Given the description of an element on the screen output the (x, y) to click on. 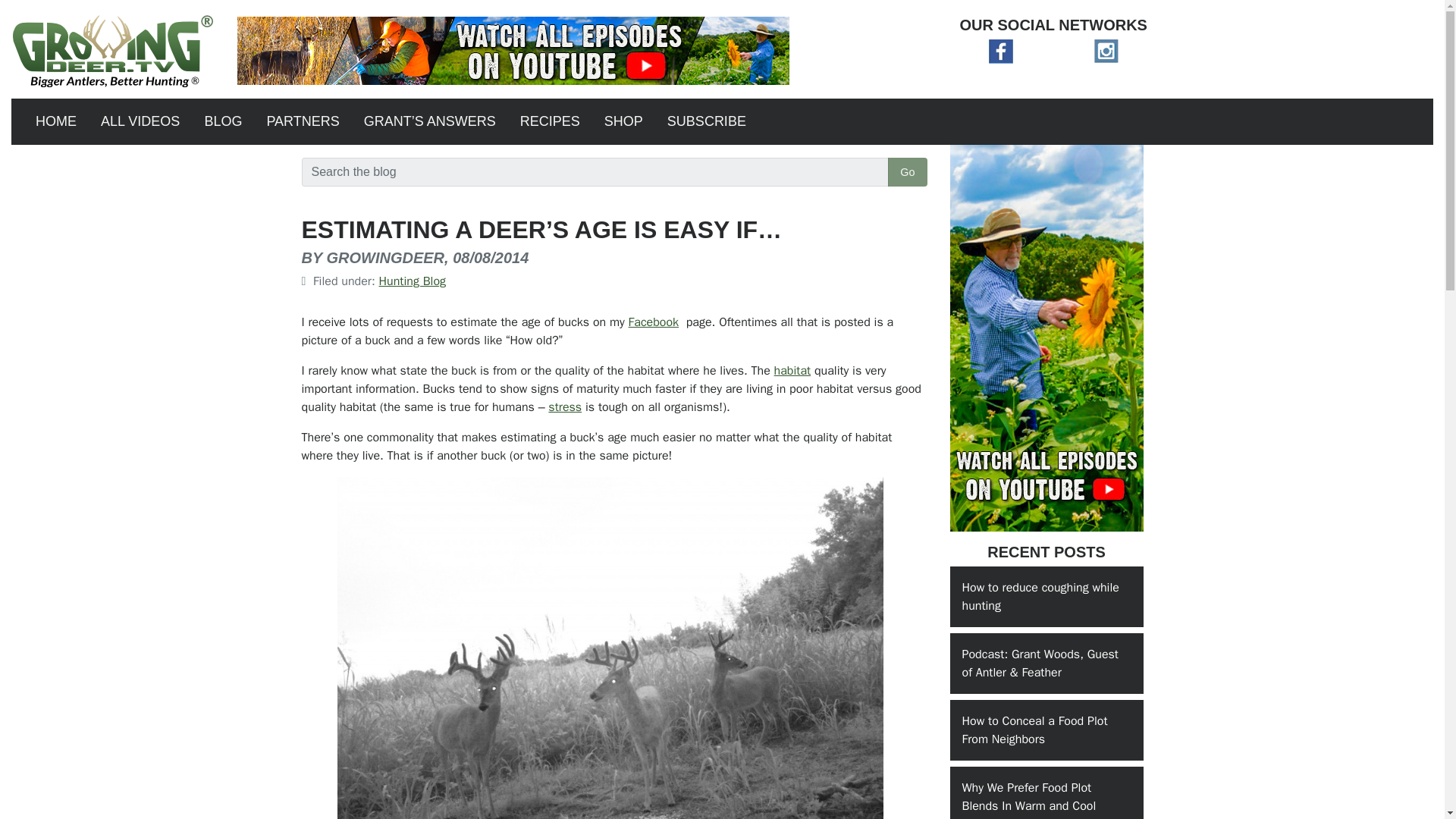
SUBSCRIBE (706, 121)
ALL VIDEOS (140, 121)
Hunting Blog (412, 281)
stress (564, 406)
Go (907, 172)
Whitetail Management: Stress And Genetic Potential (564, 406)
SHOP (623, 121)
Managing Whitetails: Habitat Design (792, 370)
Go (907, 172)
